Given the description of an element on the screen output the (x, y) to click on. 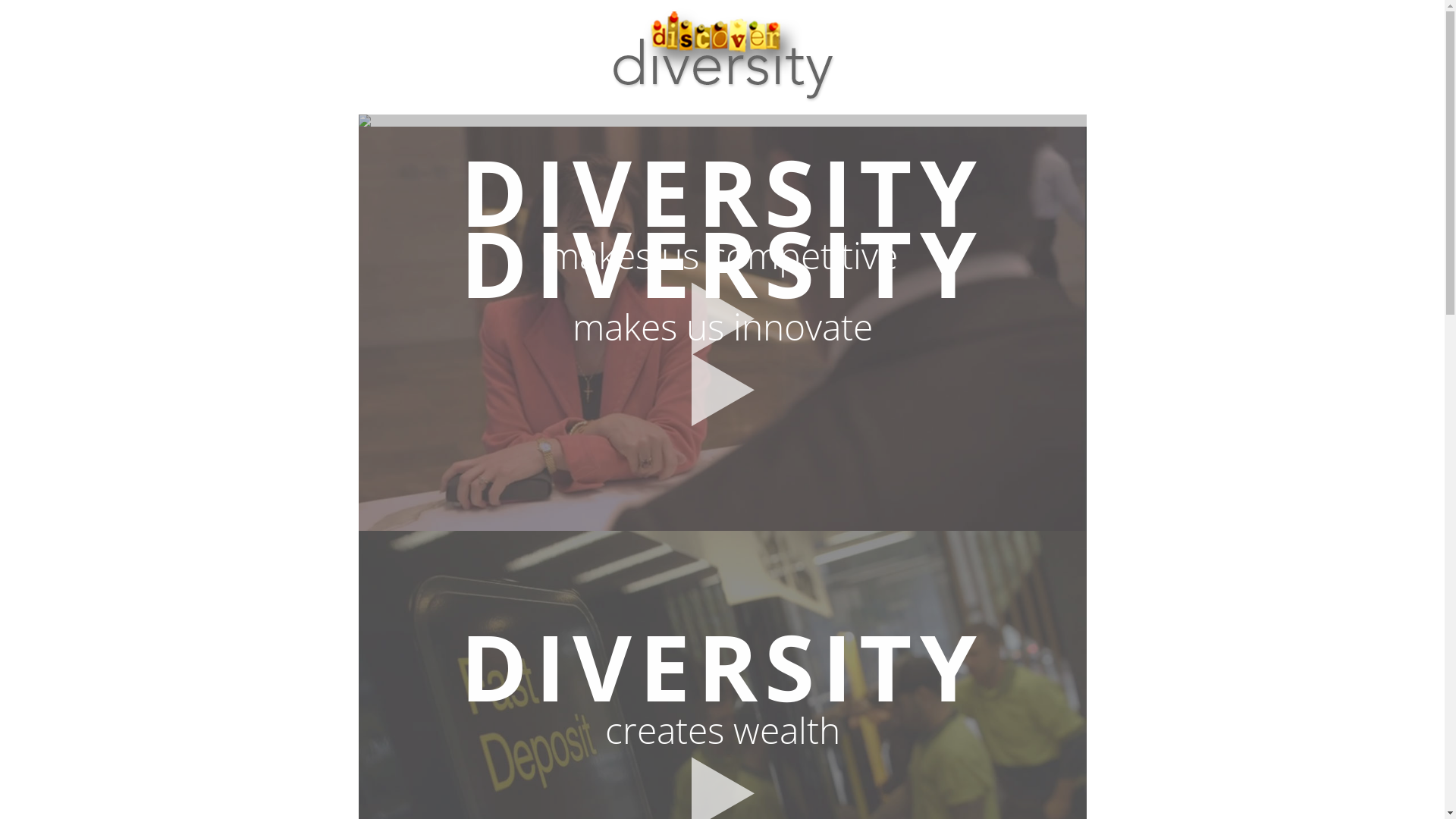
Play video Element type: text (721, 318)
Play video Element type: text (721, 390)
